Given the description of an element on the screen output the (x, y) to click on. 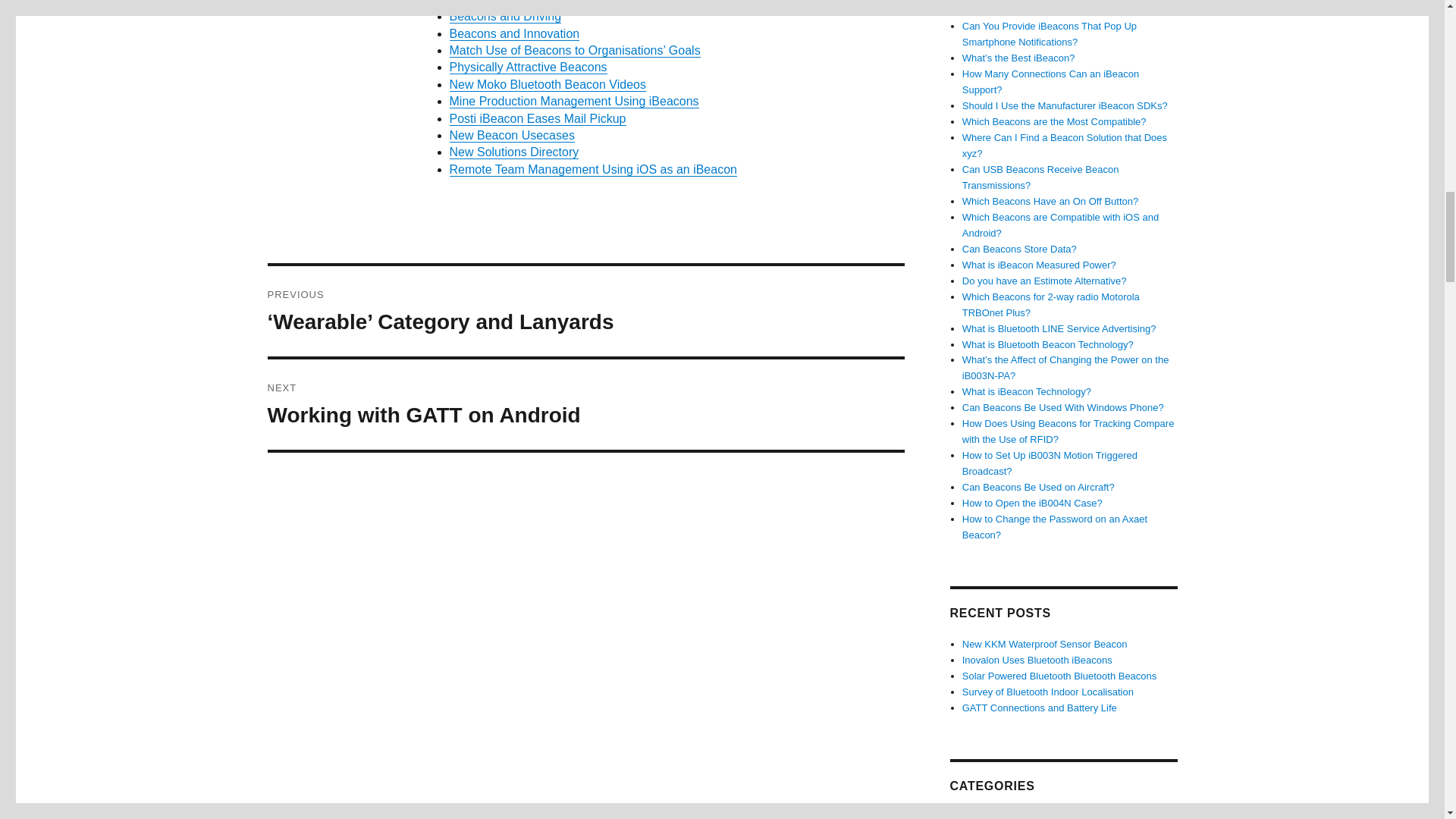
Remote Team Management Using iOS as an iBeacon (592, 169)
Mine Production Management Using iBeacons (573, 101)
Remote Team Management Using iOS as an iBeacon (592, 169)
Physically Attractive Beacons (527, 66)
Beacons and Innovation (513, 33)
New Solutions Directory (513, 151)
Using Beacons for Intelligent In-Room Presence Detection (605, 2)
New Moko Bluetooth Beacon Videos (546, 83)
Beacons and Driving (504, 15)
Posti iBeacon Eases Mail Pickup (537, 118)
New Solutions Directory (513, 151)
Posti iBeacon Eases Mail Pickup (585, 404)
Mine Production Management Using iBeacons (537, 118)
Using Beacons for Intelligent In-Room Presence Detection (573, 101)
